Given the description of an element on the screen output the (x, y) to click on. 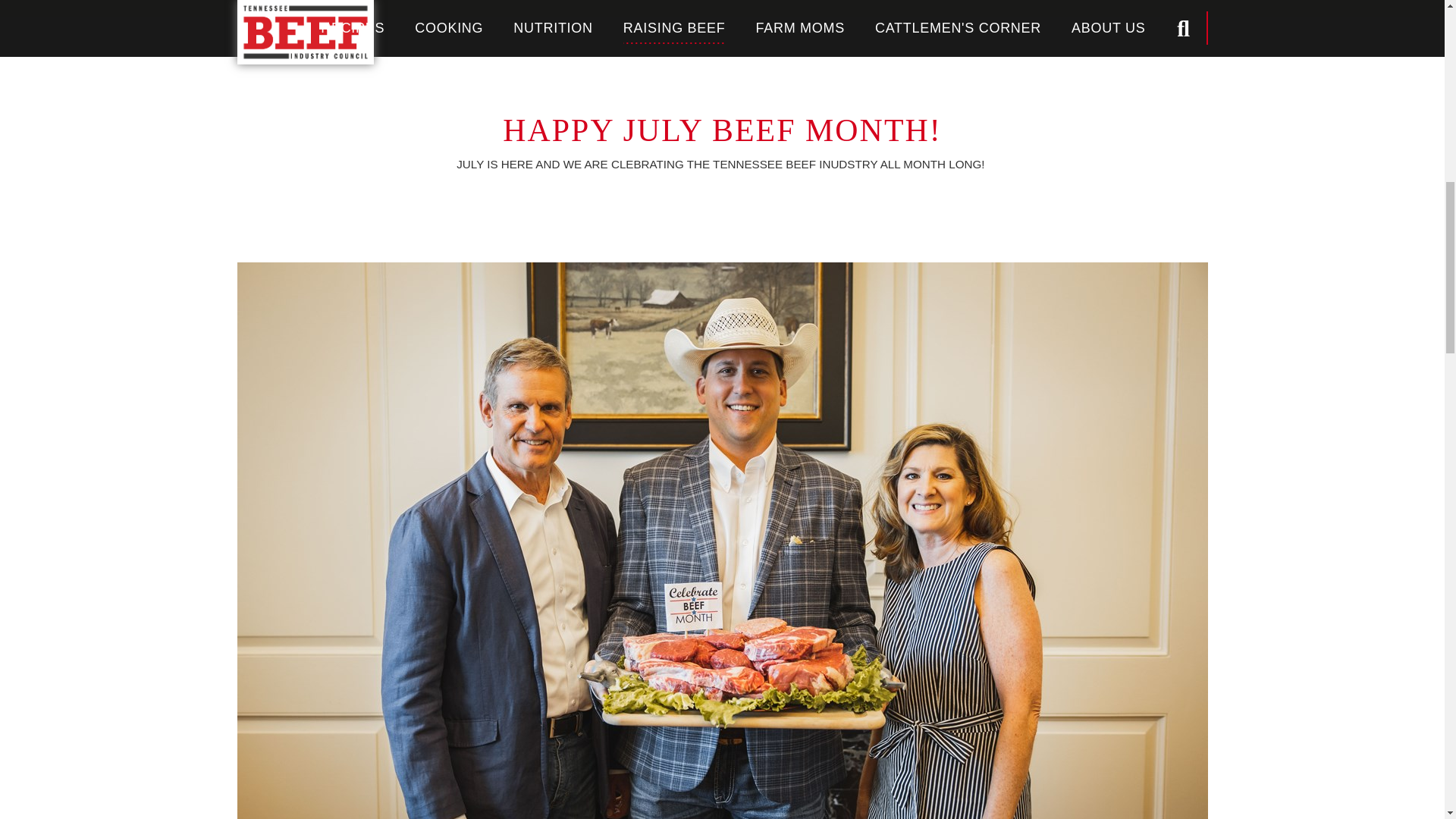
july-beef-month-hero-graphic-.jpg (722, 8)
